Given the description of an element on the screen output the (x, y) to click on. 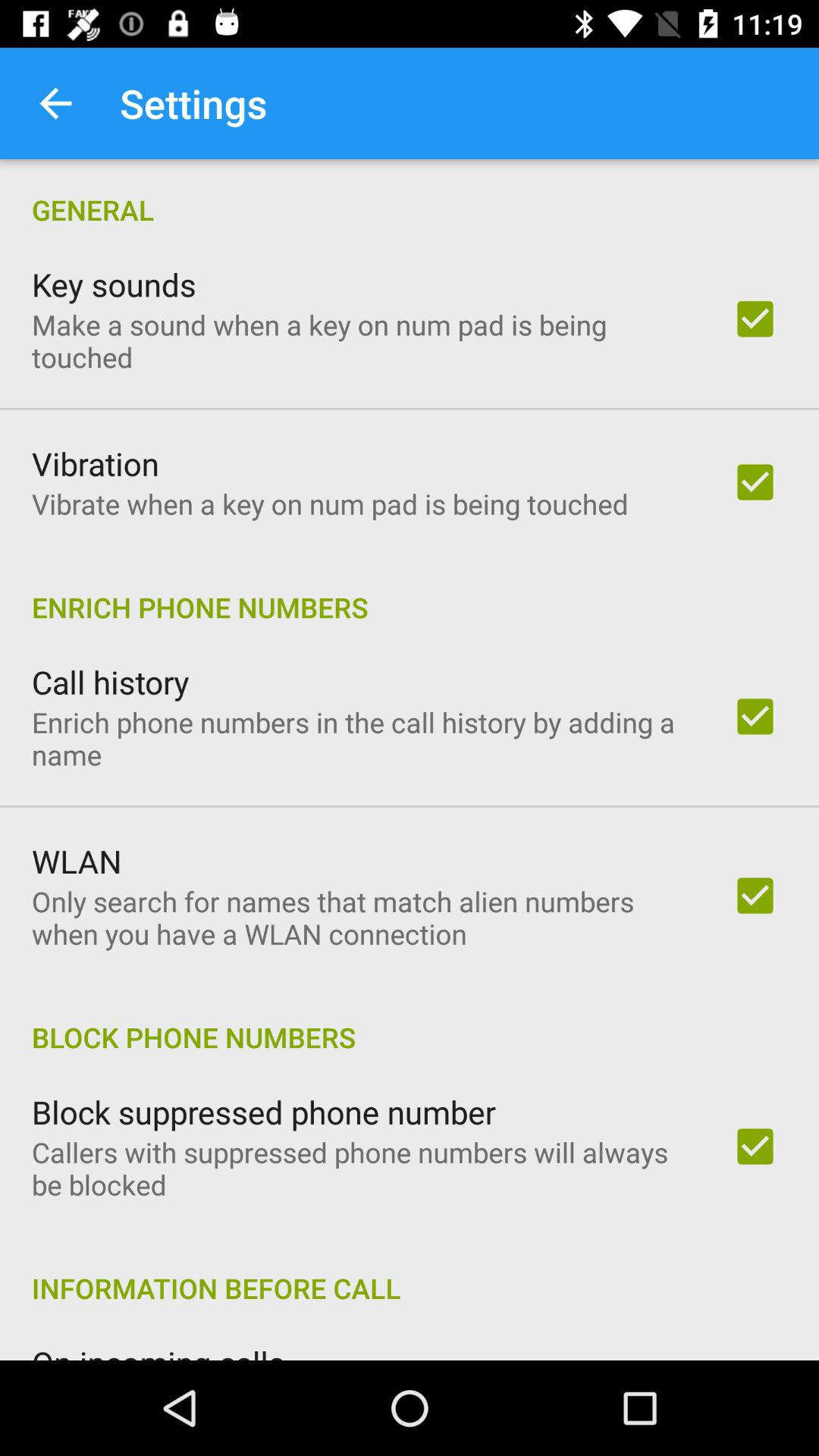
turn off make a sound item (361, 340)
